Given the description of an element on the screen output the (x, y) to click on. 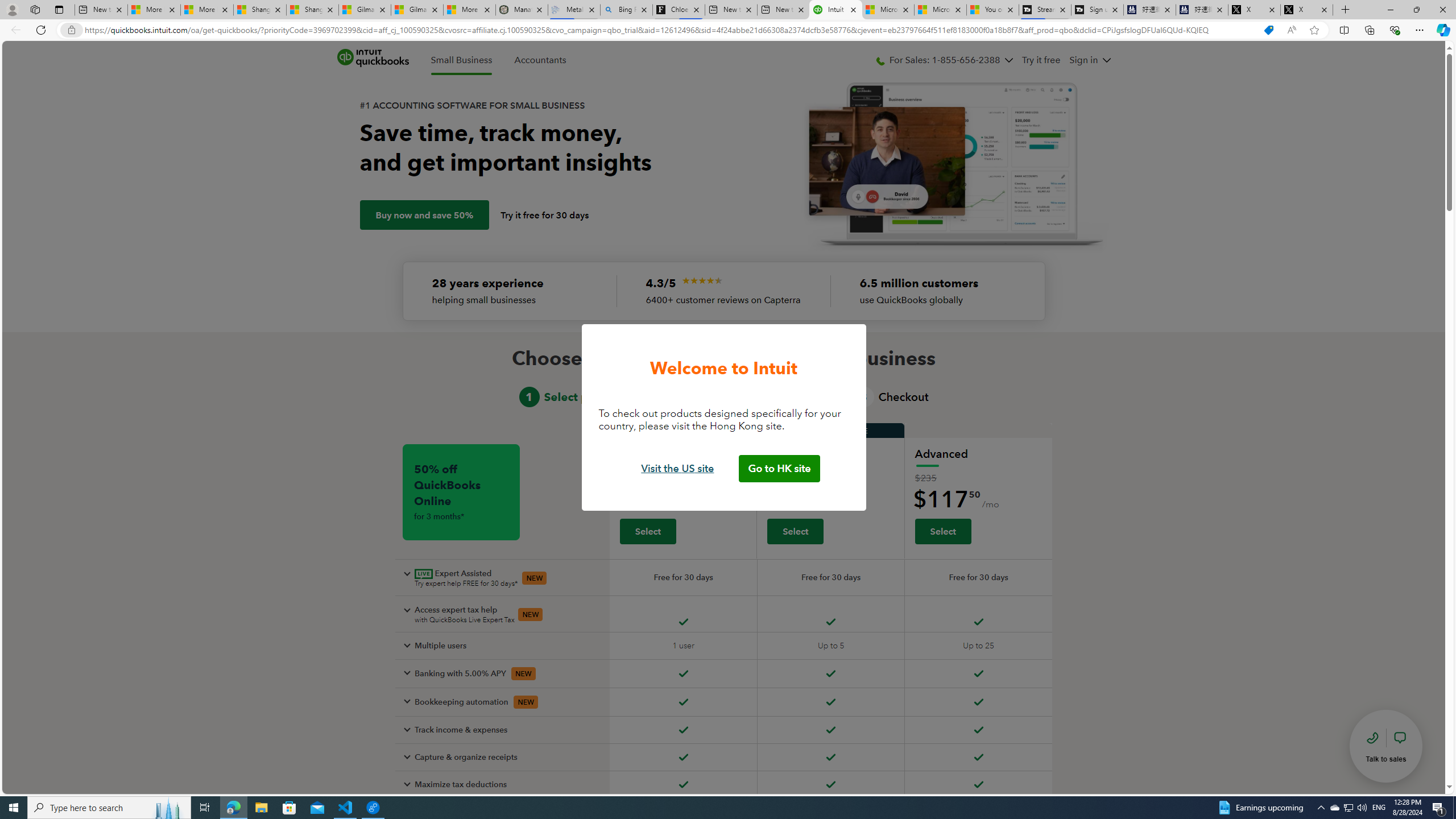
Go to HK site (778, 468)
talk to sales (1385, 746)
Accountants (539, 60)
Buy now and save 50% (424, 214)
Small Business (461, 60)
